Given the description of an element on the screen output the (x, y) to click on. 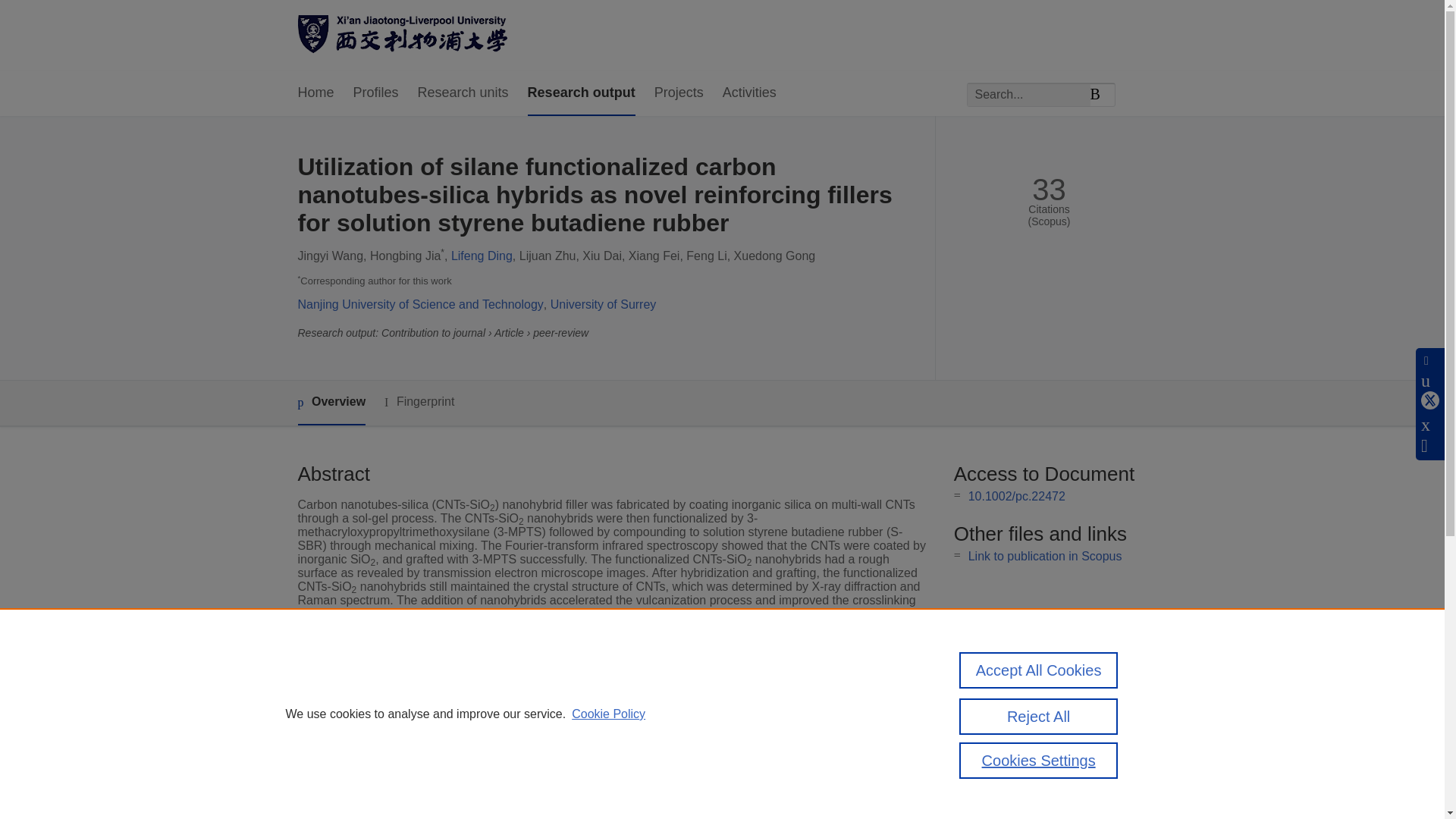
Projects (678, 93)
Lifeng Ding (481, 255)
Link to publication in Scopus (1045, 555)
Activities (749, 93)
Nanjing University of Science and Technology (420, 304)
Research units (462, 93)
Cookies Settings (1038, 760)
Reject All (1038, 716)
Profiles (375, 93)
Polymer Composites (565, 745)
